Given the description of an element on the screen output the (x, y) to click on. 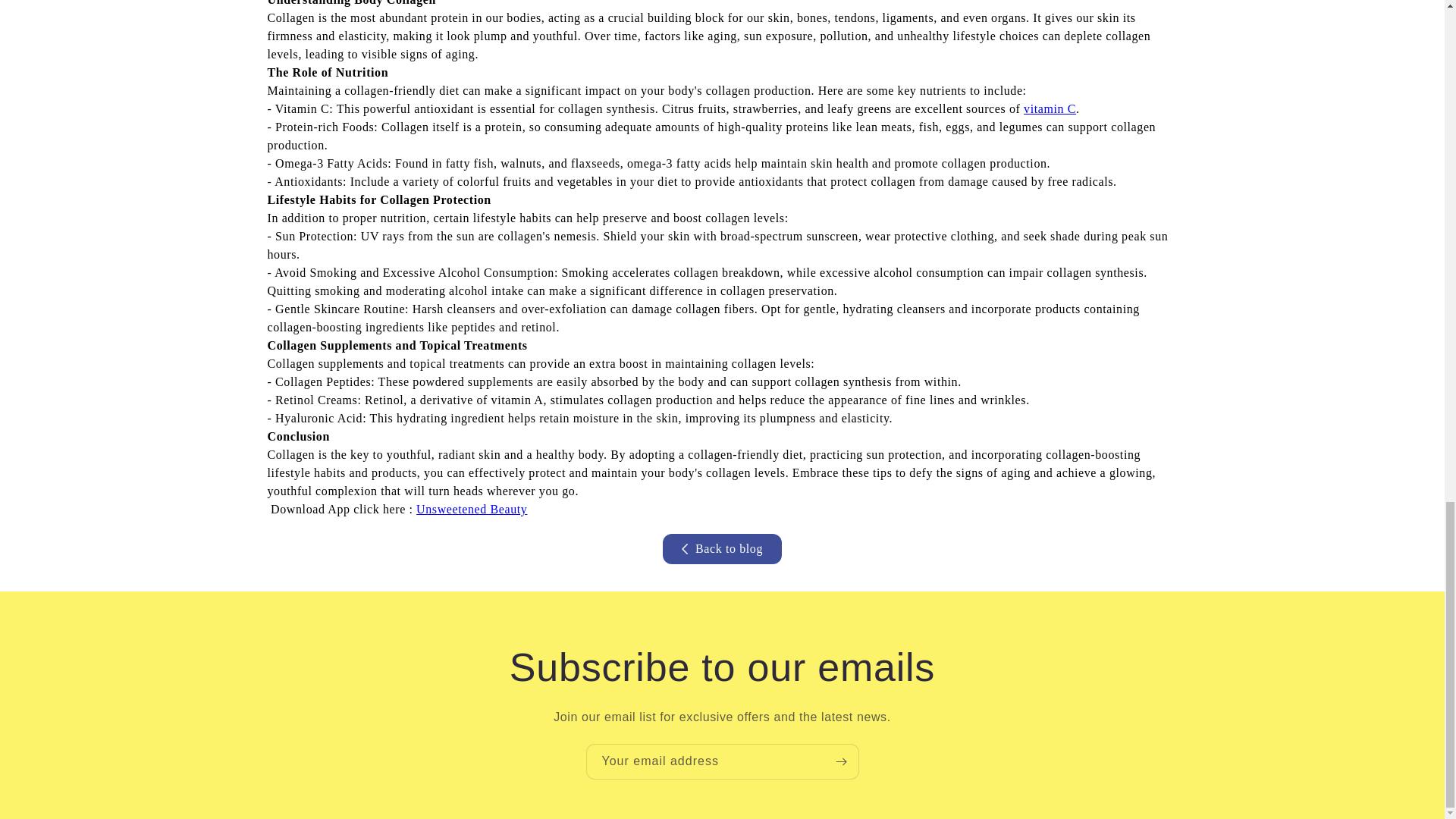
Back to blog (721, 548)
vitamin C (1049, 108)
Unsweetened Beauty (471, 508)
